Given the description of an element on the screen output the (x, y) to click on. 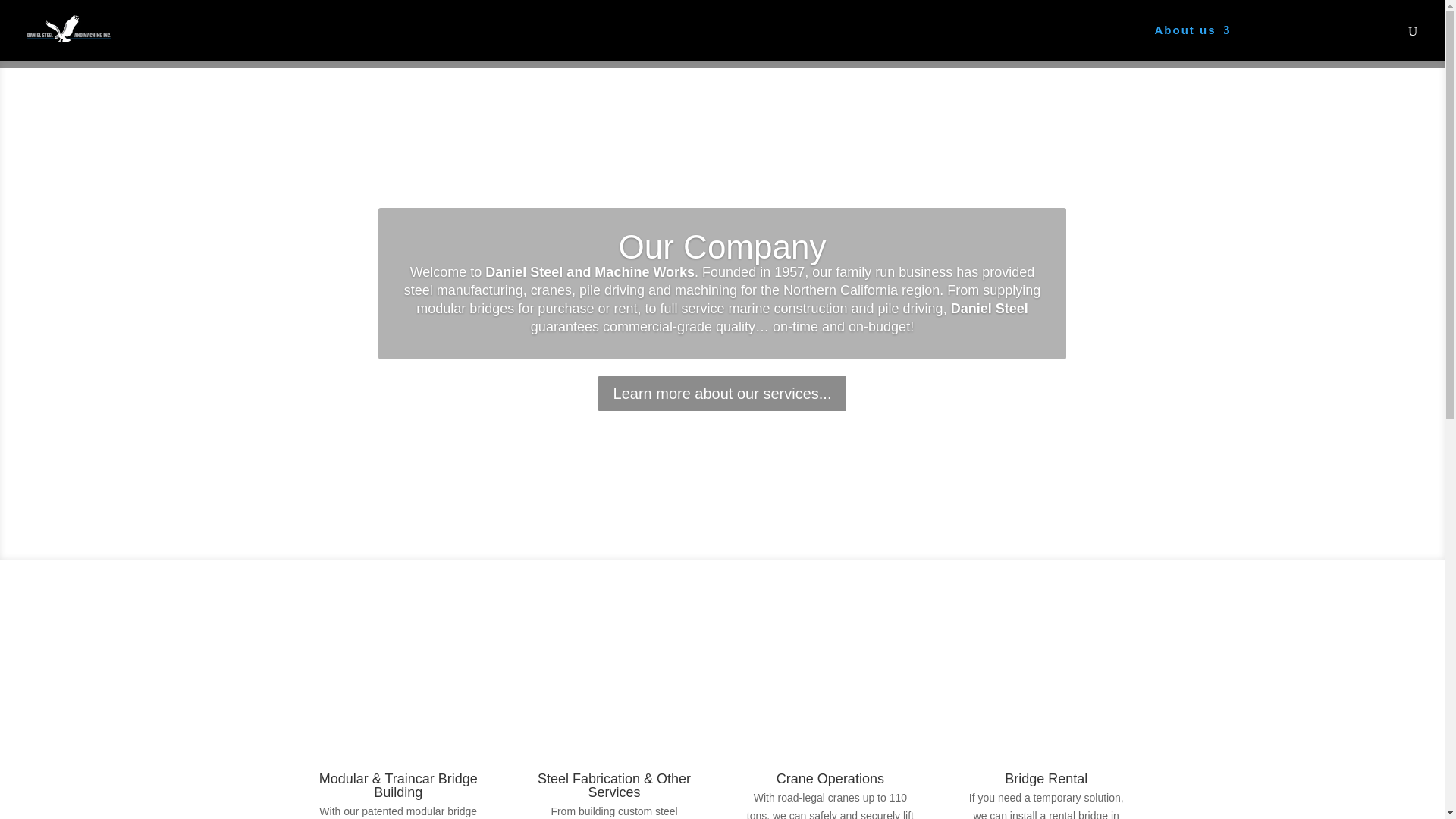
Services (1105, 42)
About us (1192, 42)
Bridges (1284, 42)
Home (1037, 42)
Contact (1364, 42)
